Given the description of an element on the screen output the (x, y) to click on. 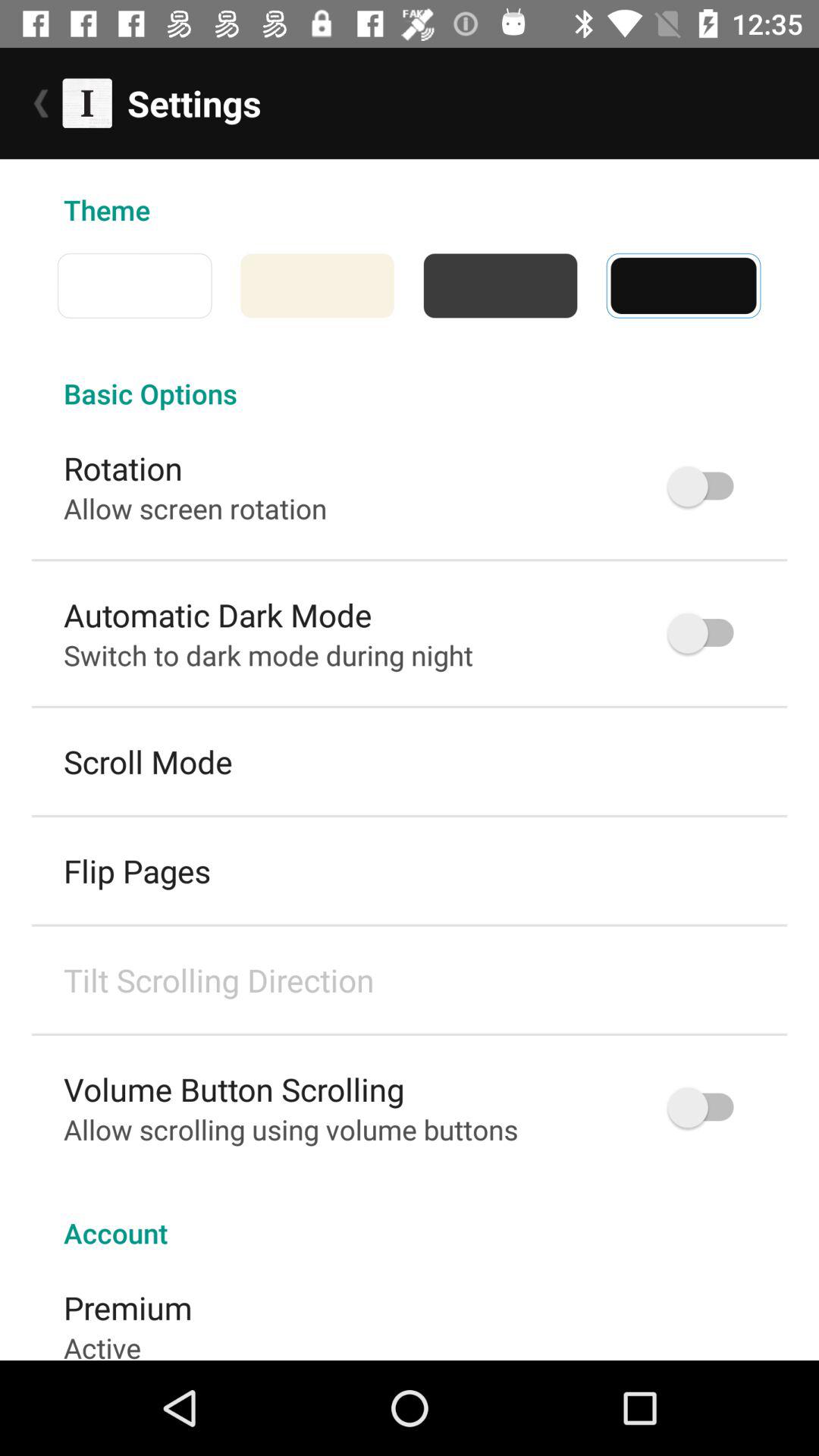
swipe to the theme icon (409, 193)
